Given the description of an element on the screen output the (x, y) to click on. 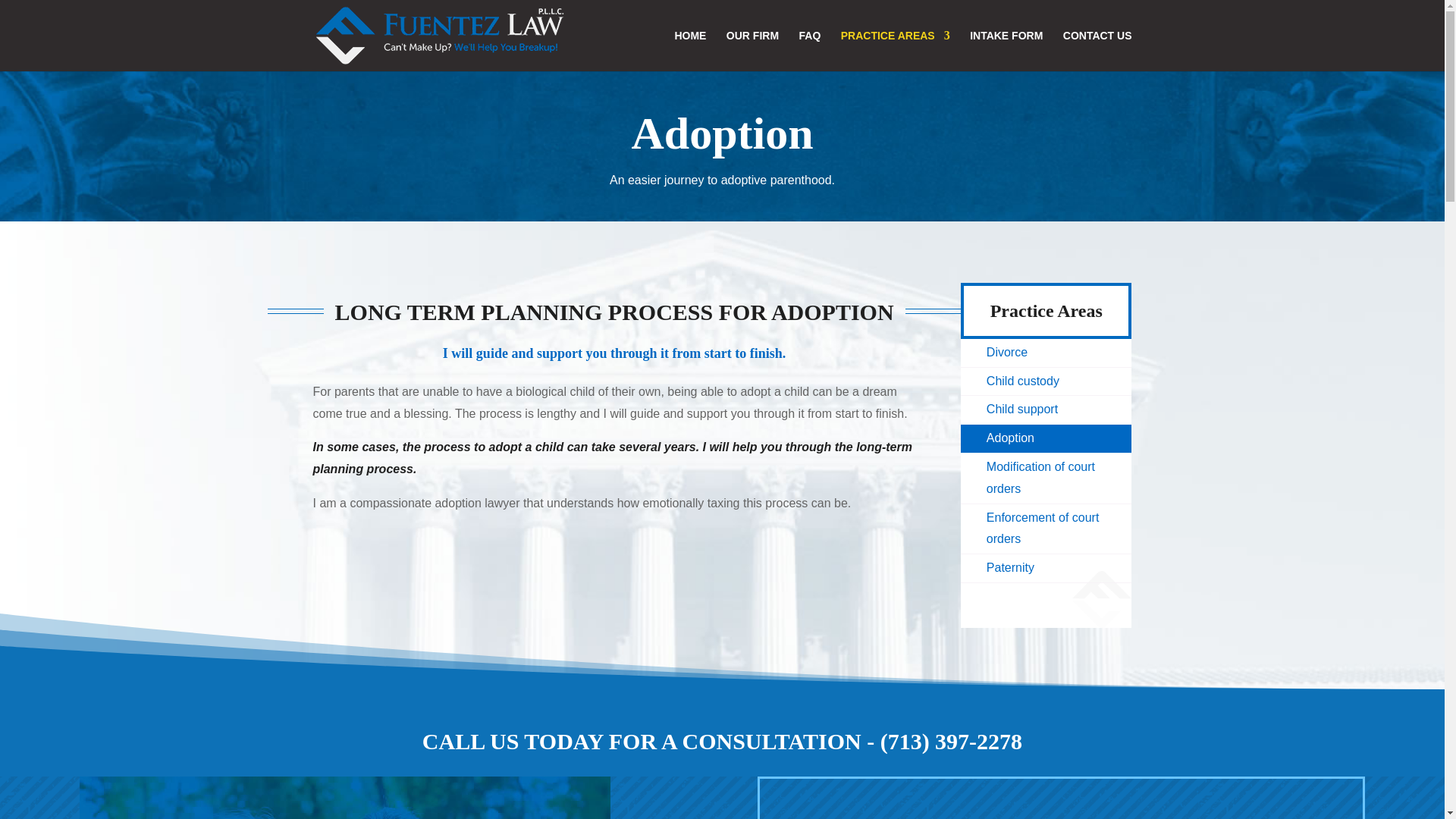
Enforcement of court orders (1045, 529)
Child custody (1045, 381)
Modification of court orders (1045, 478)
INTAKE FORM (1005, 50)
Adoption (1045, 438)
Divorce (1045, 352)
OUR FIRM (752, 50)
Child support (1045, 409)
Paternity (1045, 568)
CONTACT US (1097, 50)
